Given the description of an element on the screen output the (x, y) to click on. 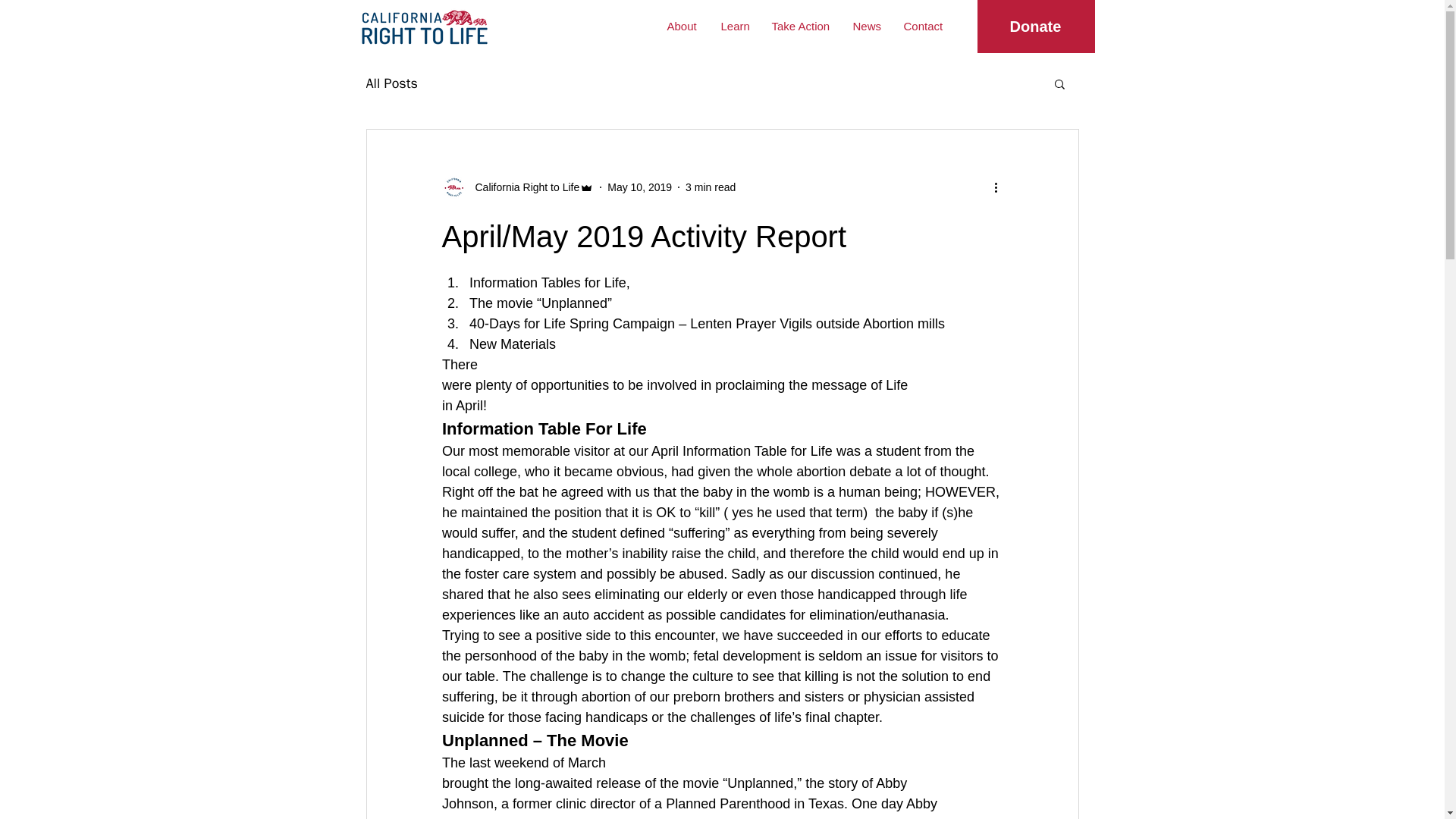
California Right to Life (522, 186)
3 min read (710, 186)
May 10, 2019 (639, 186)
Learn (735, 26)
All Posts (390, 83)
Take Action (800, 26)
California Right to Life (517, 187)
News (866, 26)
About (682, 26)
Donate (1035, 26)
